Given the description of an element on the screen output the (x, y) to click on. 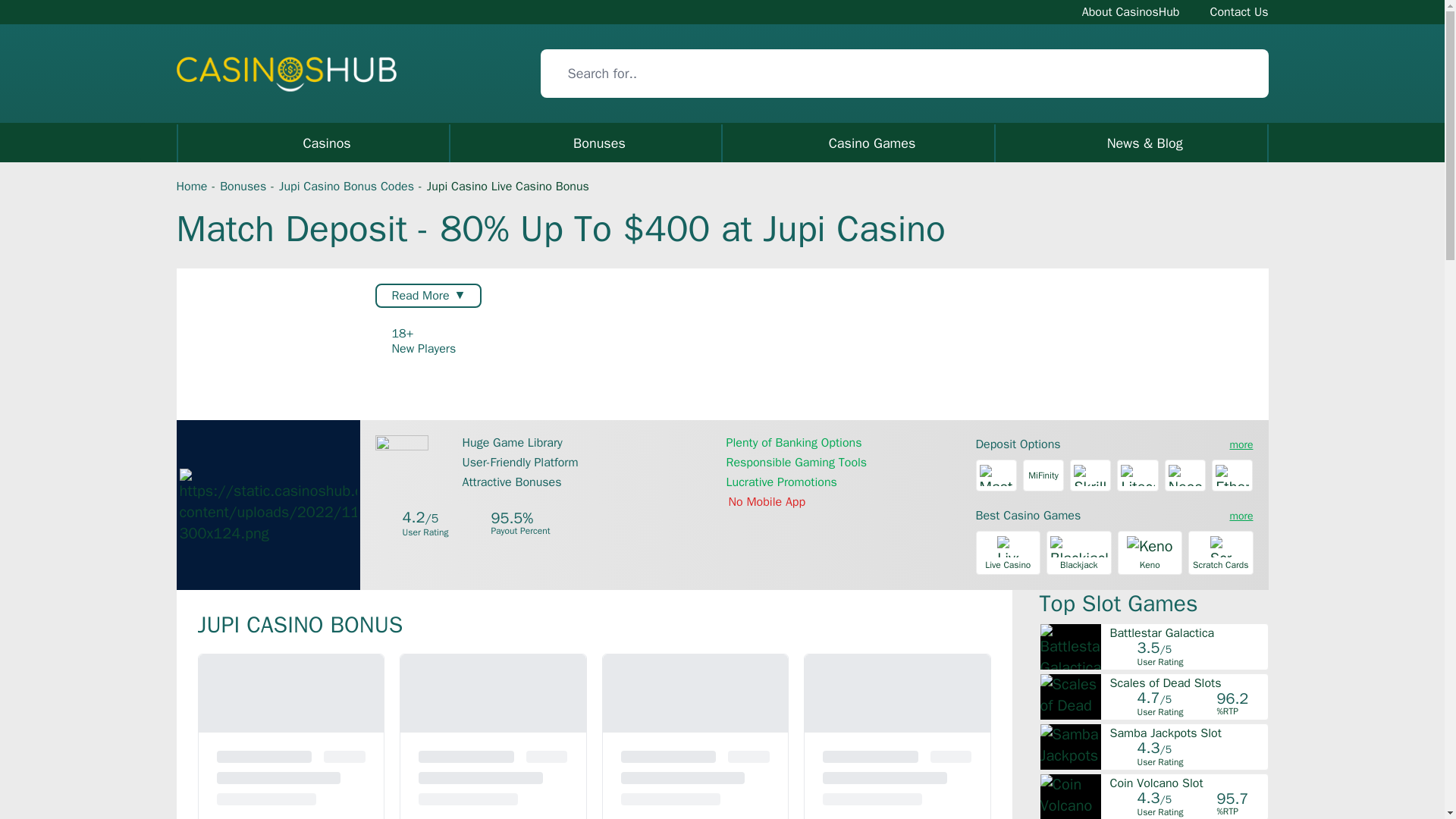
Jupi Casino Bonus Codes (346, 186)
Samba Jackpots Slot (1187, 733)
Contact Us (1238, 11)
About CasinosHub (1130, 11)
Bonuses (242, 186)
Coin Volcano Slot (1187, 783)
Battlestar Galactica (1187, 633)
Scales of Dead Slots (1187, 683)
more (1238, 443)
Jupi Casino (267, 504)
